Given the description of an element on the screen output the (x, y) to click on. 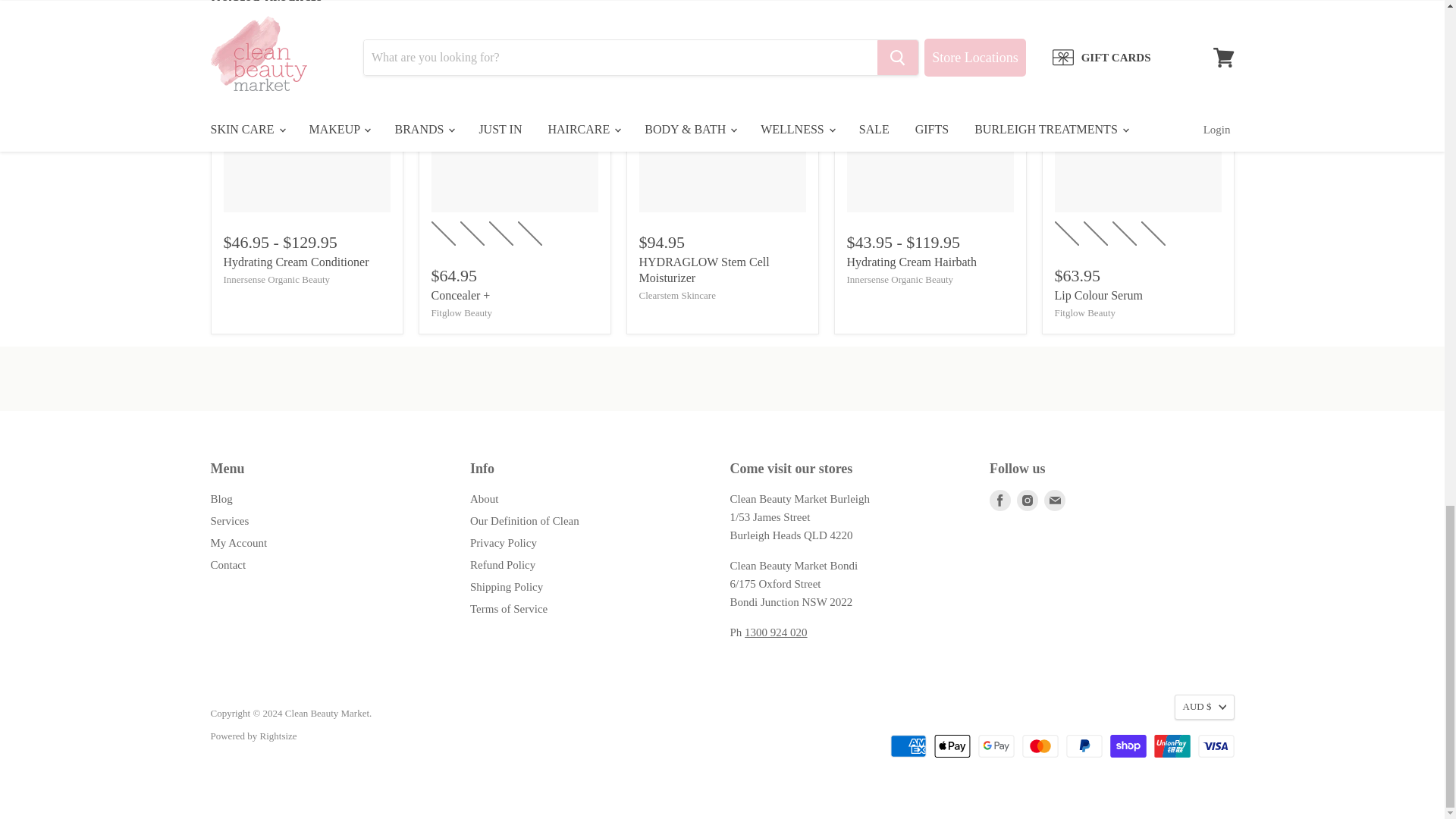
Instagram (1027, 500)
Facebook (1000, 500)
Email (1054, 500)
